Given the description of an element on the screen output the (x, y) to click on. 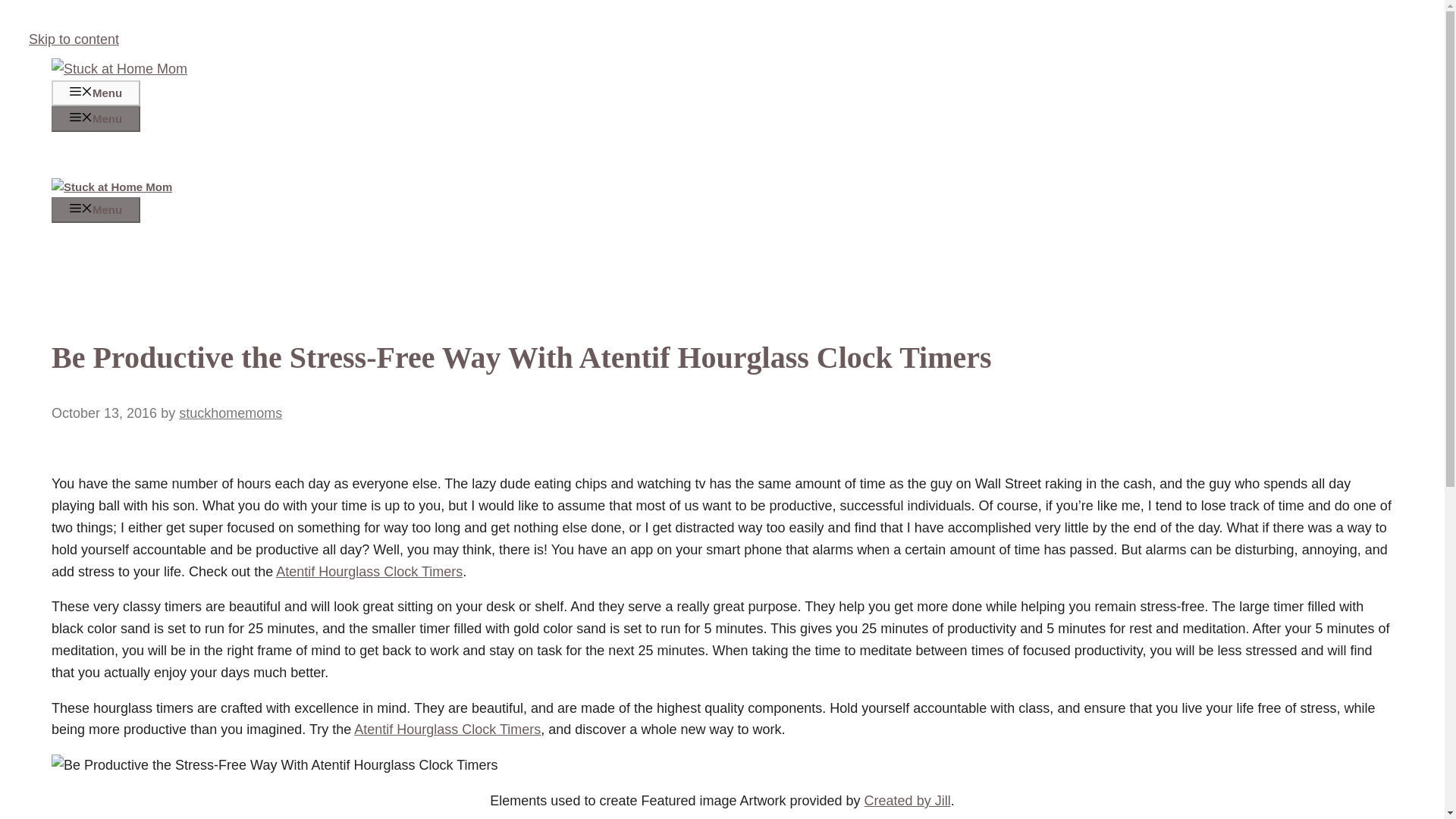
Created by Jill (907, 800)
Skip to content (74, 38)
stuckhomemoms (230, 412)
View all posts by stuckhomemoms (230, 412)
Stuck at Home Mom (110, 186)
Menu (94, 118)
Menu (94, 93)
Atentif Hourglass Clock Timers (446, 729)
Atentif Hourglass Clock Timers (369, 571)
Menu (94, 209)
